Given the description of an element on the screen output the (x, y) to click on. 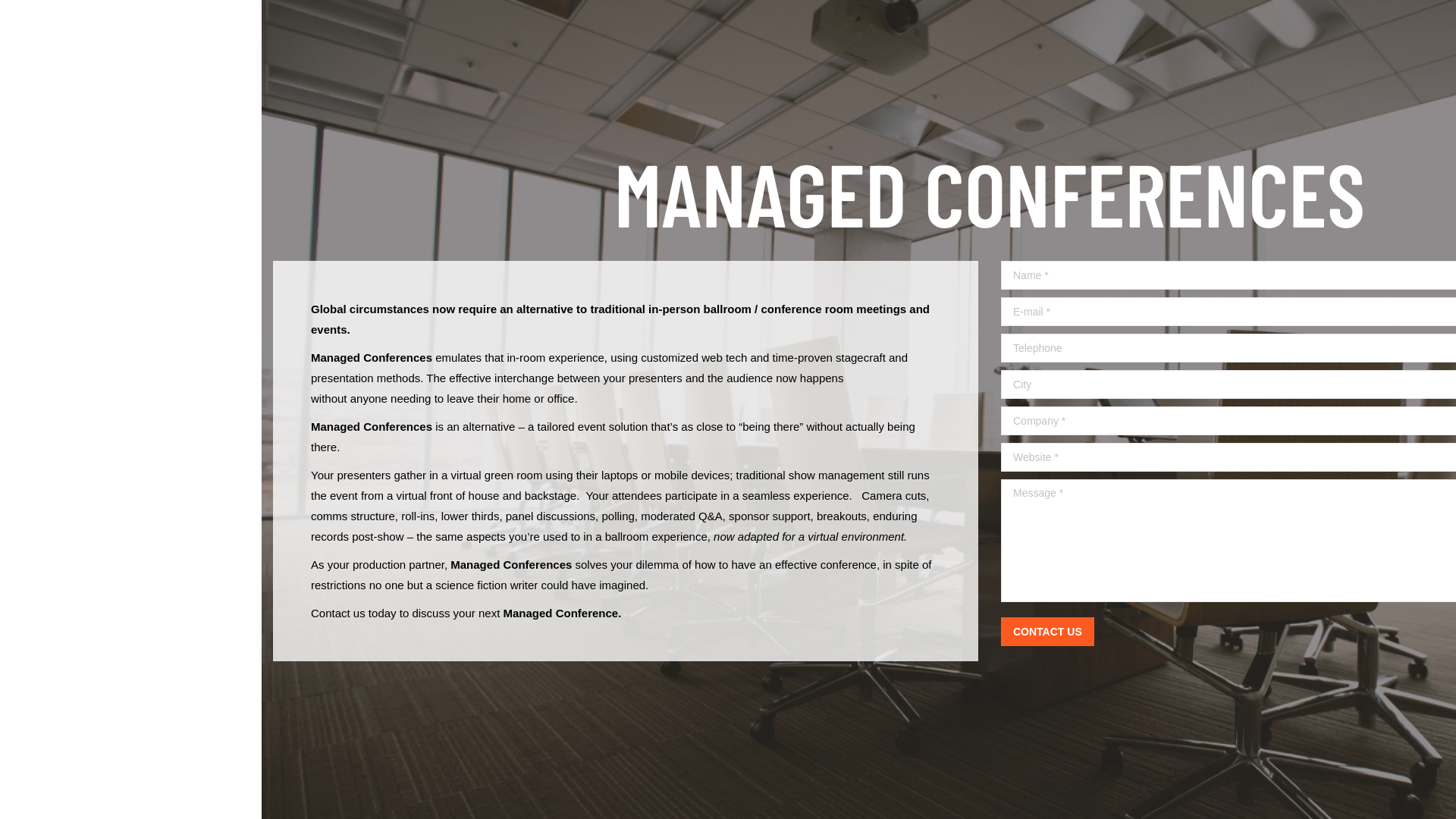
MANAGED CONFERENCES (989, 195)
CONTACT US (1047, 631)
submit (1132, 633)
submit (1132, 633)
